Given the description of an element on the screen output the (x, y) to click on. 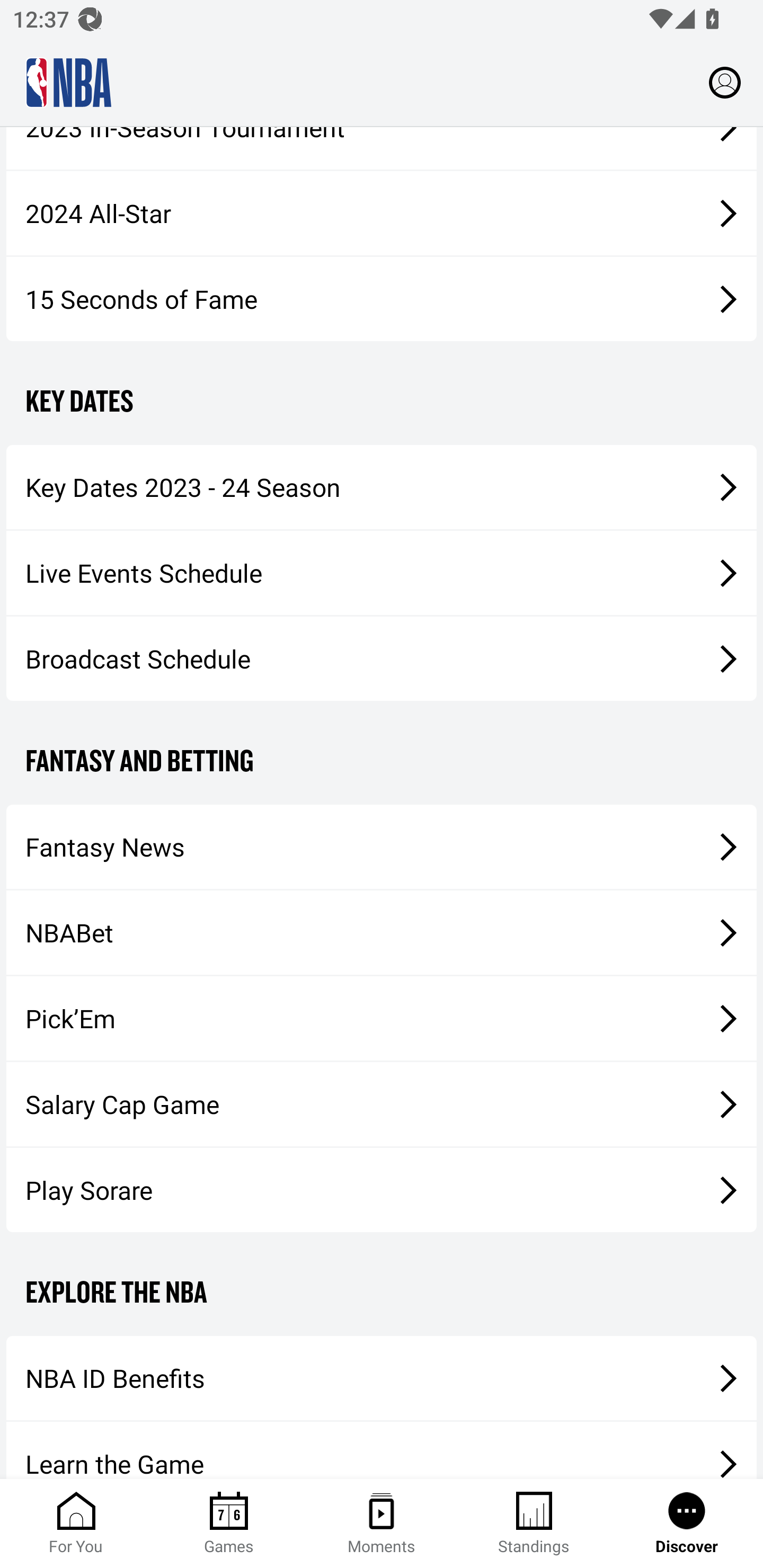
Profile (724, 81)
2024 All-Star (381, 212)
15 Seconds of Fame (381, 299)
Key Dates 2023 - 24 Season (381, 487)
Live Events Schedule (381, 572)
Broadcast Schedule (381, 658)
Fantasy News (381, 846)
NBABet (381, 932)
Pick’Em (381, 1017)
Salary Cap Game (381, 1103)
Play Sorare (381, 1189)
NBA ID Benefits (381, 1377)
Learn the Game (381, 1450)
For You (76, 1523)
Games (228, 1523)
Moments (381, 1523)
Standings (533, 1523)
